Given the description of an element on the screen output the (x, y) to click on. 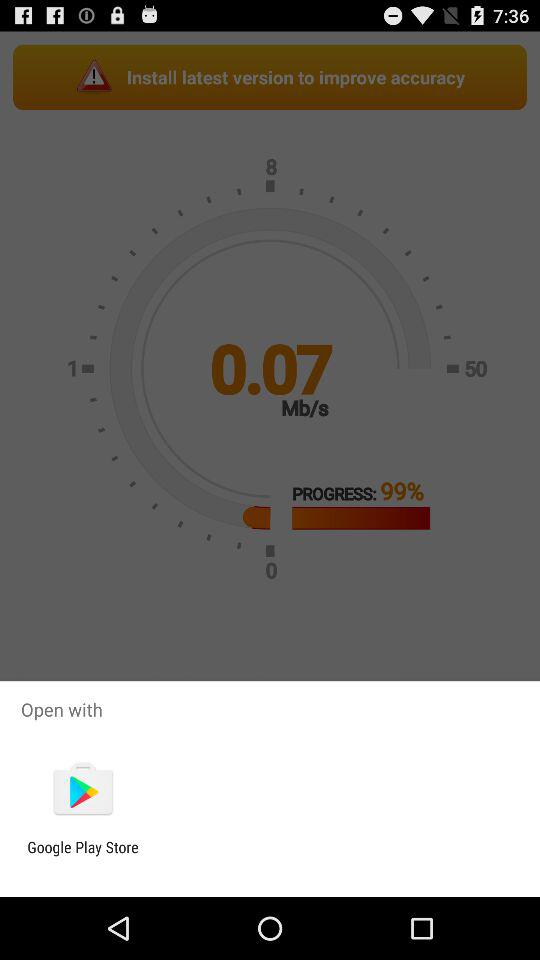
jump until the google play store (82, 856)
